Given the description of an element on the screen output the (x, y) to click on. 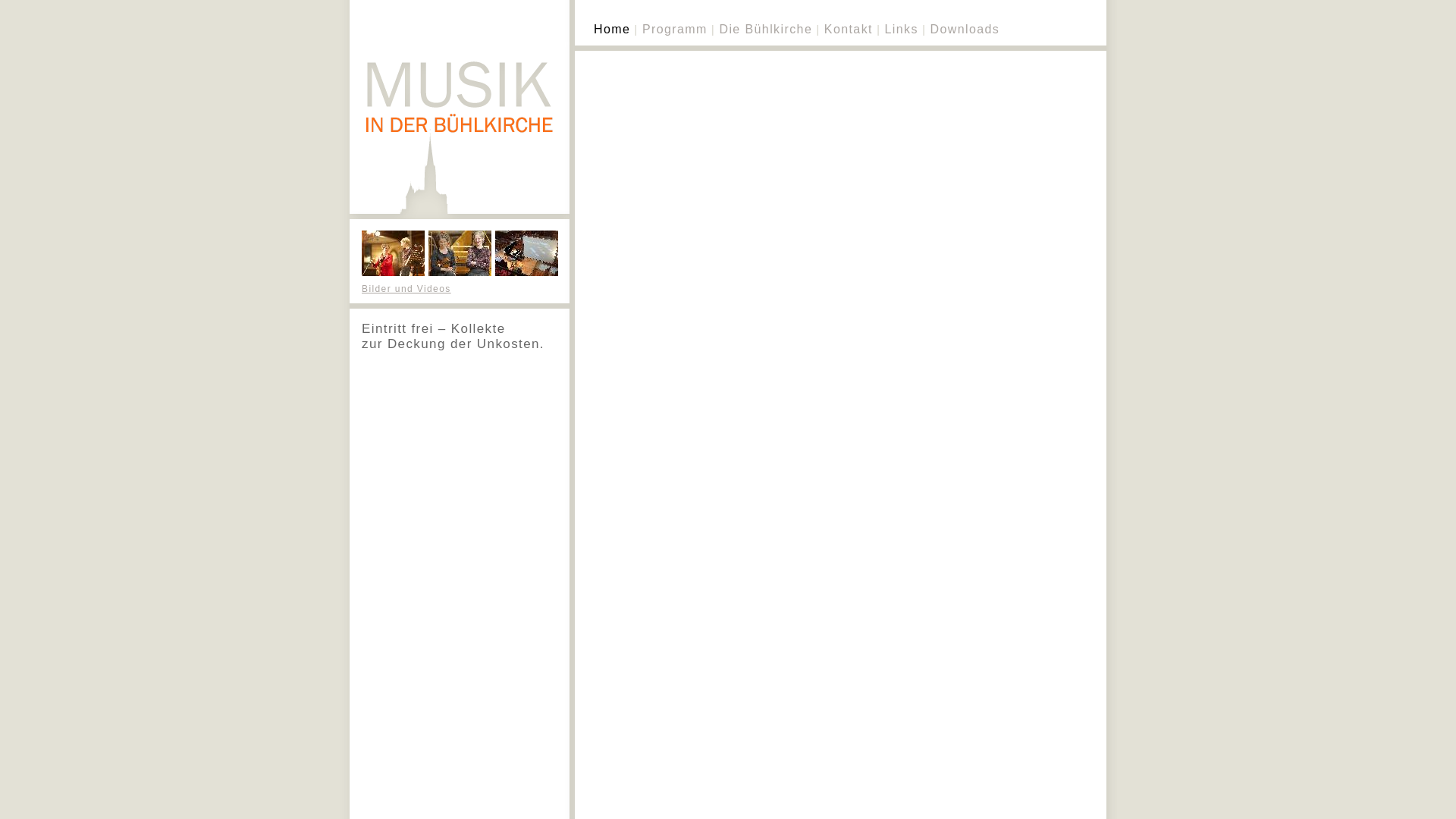
Home Element type: text (611, 28)
Bilder und Videos Element type: text (406, 288)
Programm Element type: text (674, 28)
Links Element type: text (900, 28)
Downloads Element type: text (964, 28)
Kontakt Element type: text (848, 28)
